Given the description of an element on the screen output the (x, y) to click on. 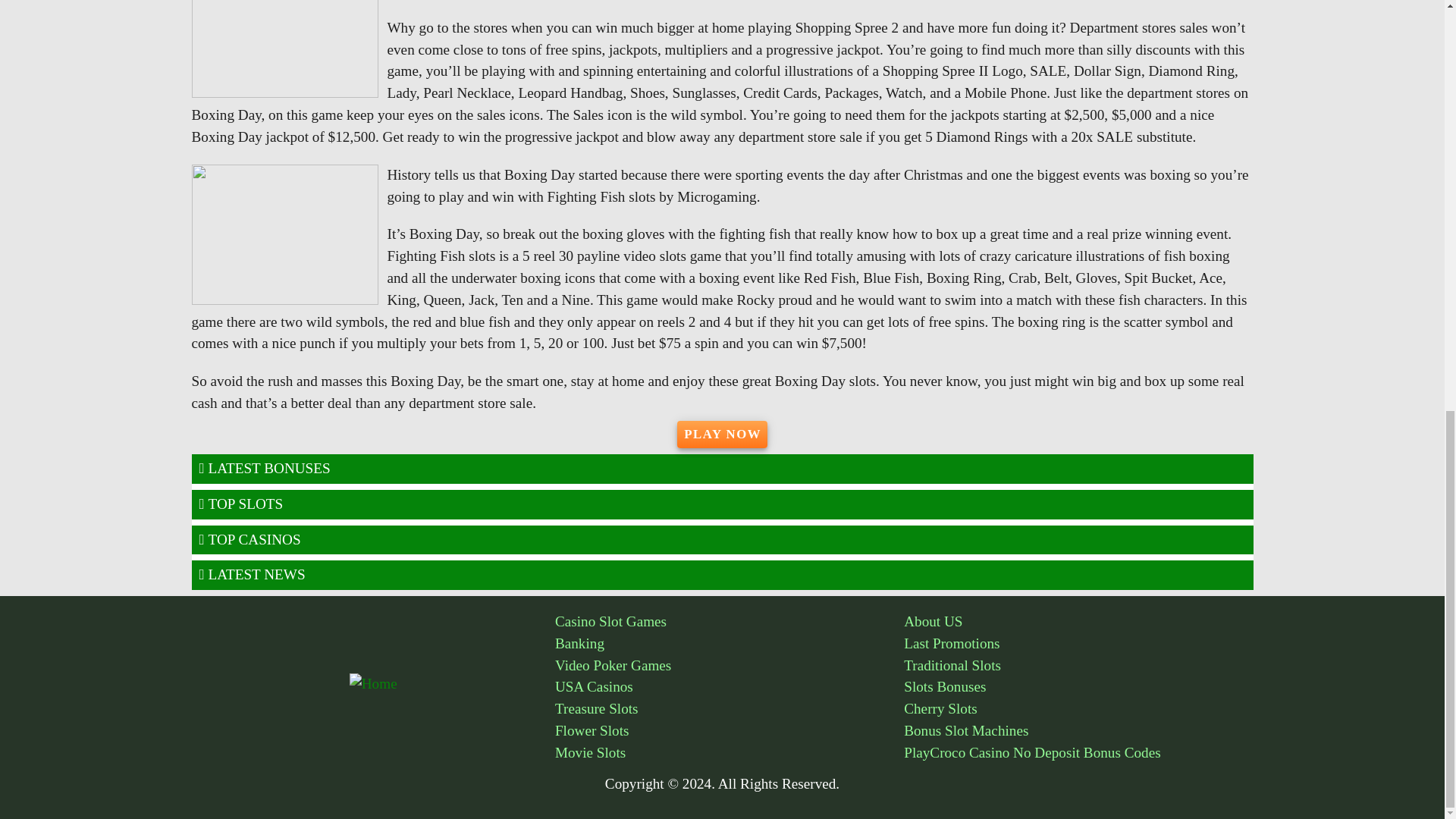
Last Promotions (1078, 644)
Cherry Slots (1078, 709)
Treasure Slots (729, 709)
Casino Slot Games (729, 621)
Slots Bonuses (1078, 687)
PlayCroco Casino No Deposit Bonus Codes (1078, 753)
Flower Slots (729, 731)
Movie Slots (729, 753)
Banking (729, 644)
Video Poker Games (729, 666)
Bonus Slot Machines (1078, 731)
USA Casinos (729, 687)
PLAY NOW (722, 433)
Traditional Slots (1078, 666)
About US (1078, 621)
